Given the description of an element on the screen output the (x, y) to click on. 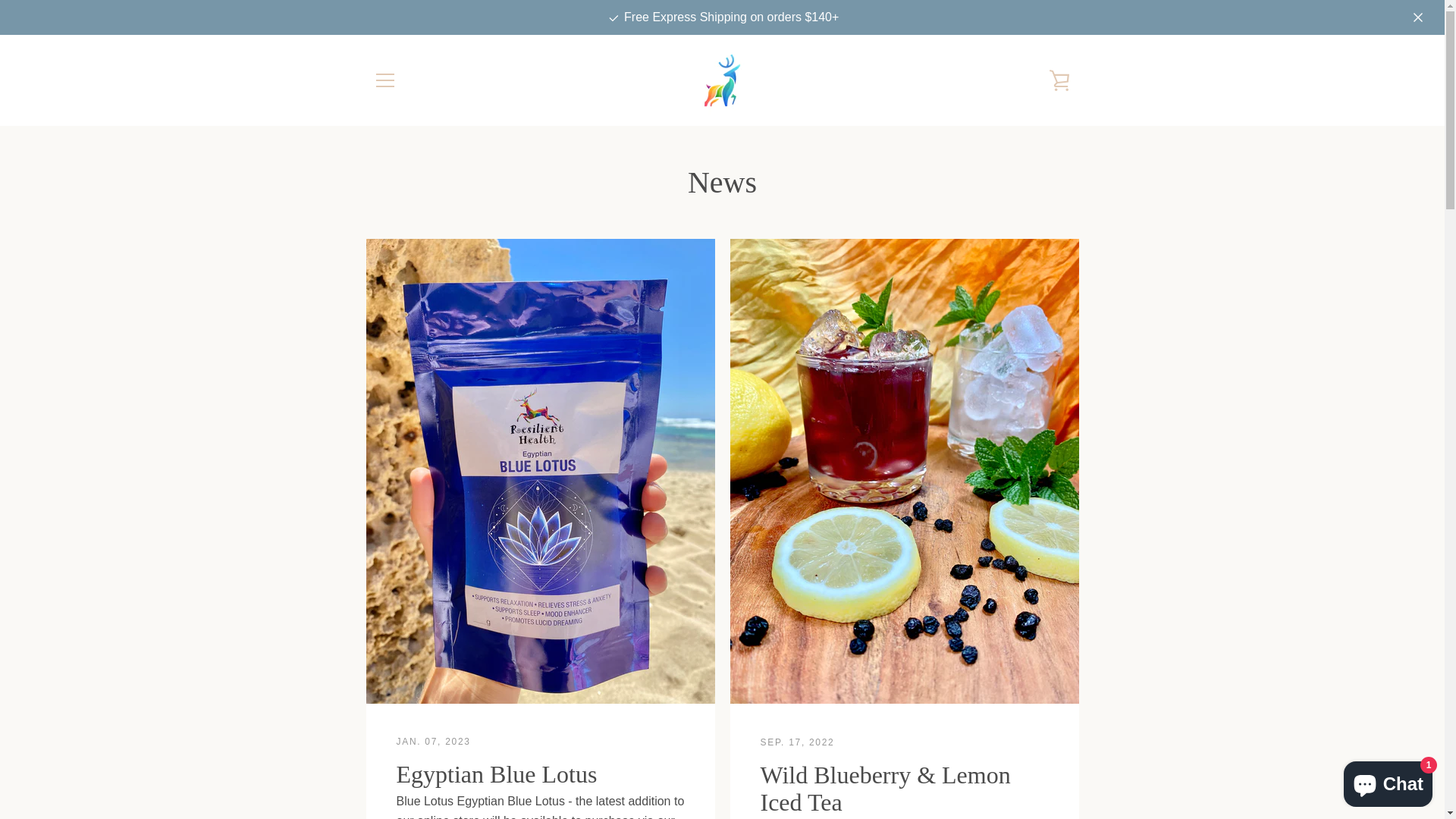
EXPAND NAVIGATION Element type: text (384, 80)
Shopify online store chat Element type: hover (1388, 780)
Facebook Element type: text (372, 764)
Skip to content Element type: text (0, 0)
VIEW CART Element type: text (1059, 80)
SEARCH Element type: text (394, 636)
SUBMIT Element type: text (1025, 675)
ResilientHealth Element type: text (760, 765)
Instagram Element type: text (399, 764)
